Given the description of an element on the screen output the (x, y) to click on. 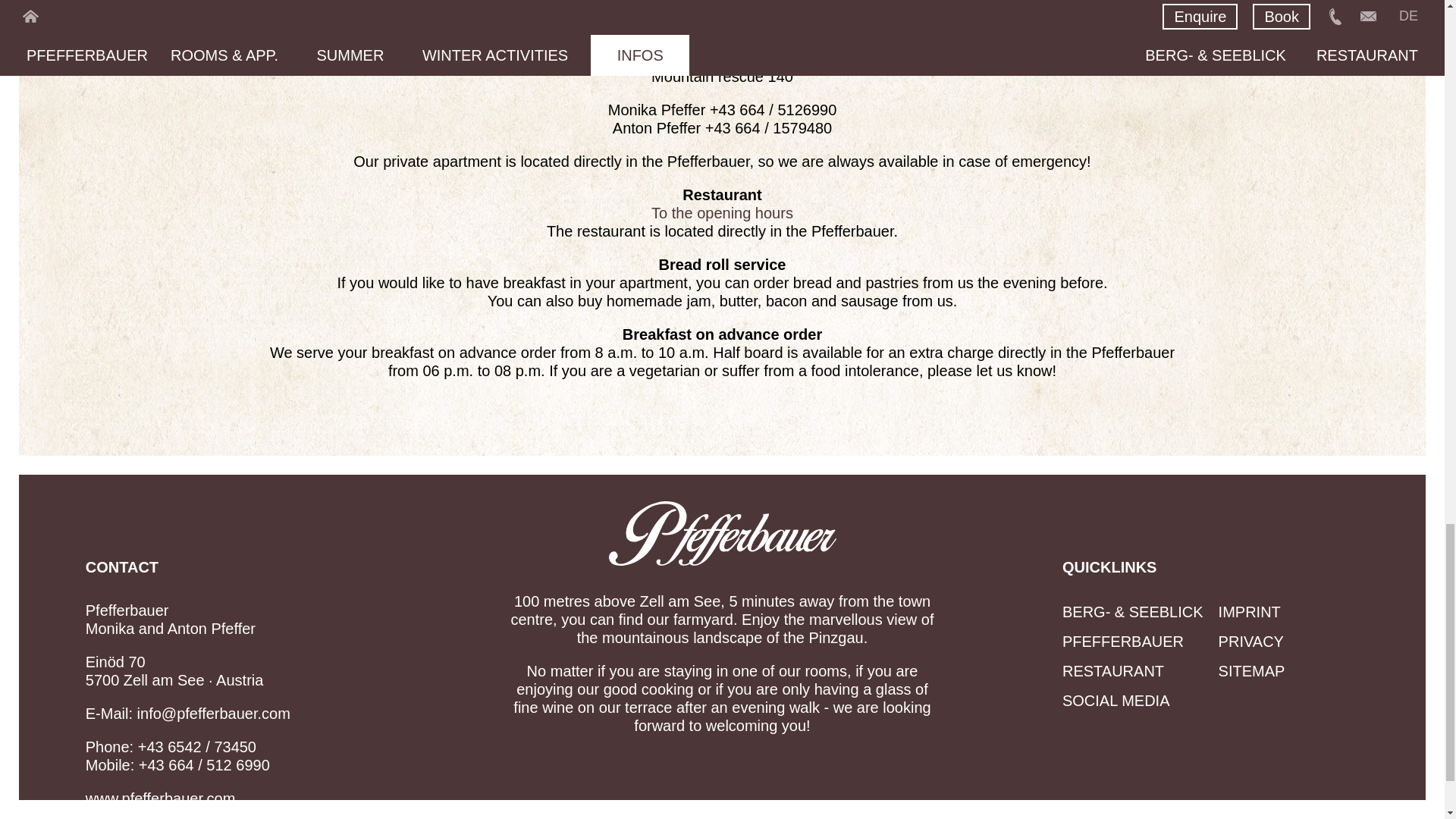
To the opening hours (721, 212)
